Given the description of an element on the screen output the (x, y) to click on. 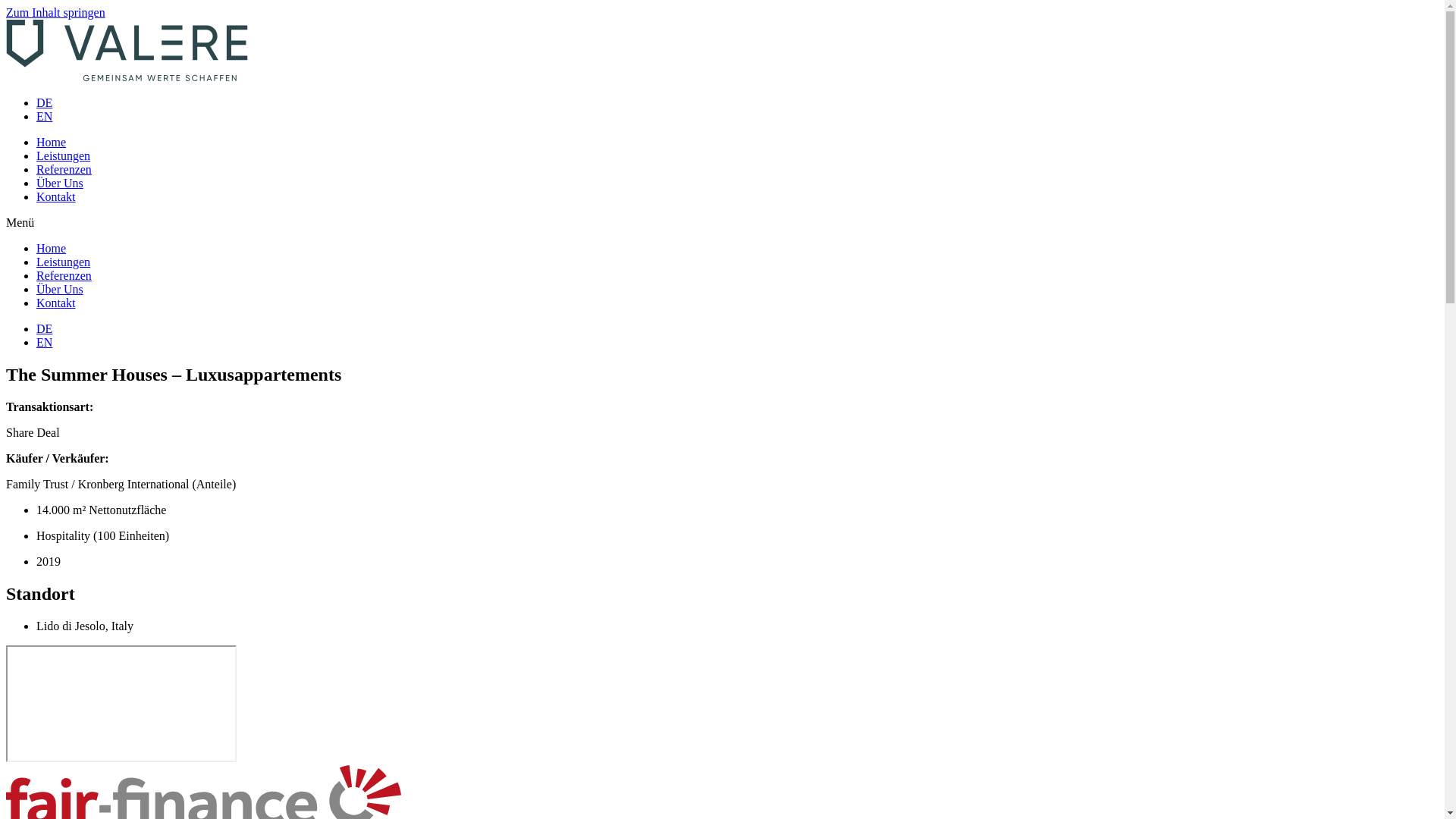
Referenzen Element type: text (63, 169)
Lido di Jesolo, Italy Element type: hover (121, 703)
Leistungen Element type: text (63, 261)
EN Element type: text (44, 341)
Leistungen Element type: text (63, 155)
Kontakt Element type: text (55, 196)
Referenzen Element type: text (63, 275)
Kontakt Element type: text (55, 302)
Home Element type: text (50, 247)
EN Element type: text (44, 115)
Zum Inhalt springen Element type: text (55, 12)
DE Element type: text (44, 102)
Home Element type: text (50, 141)
DE Element type: text (44, 328)
